Given the description of an element on the screen output the (x, y) to click on. 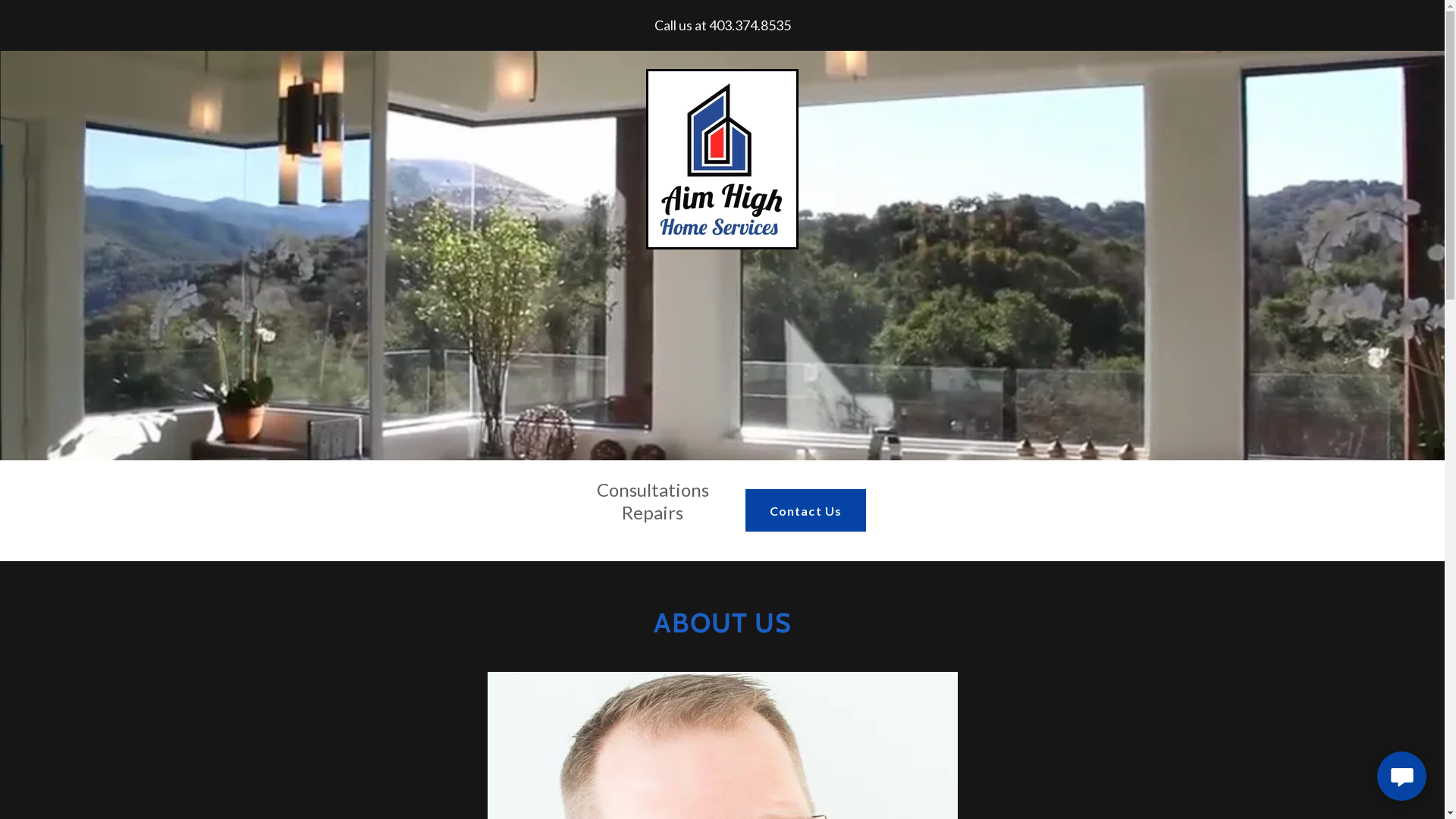
403.374.8535 Element type: text (749, 24)
Contact Us Element type: text (805, 510)
Aim High Home Services Element type: hover (722, 157)
